Given the description of an element on the screen output the (x, y) to click on. 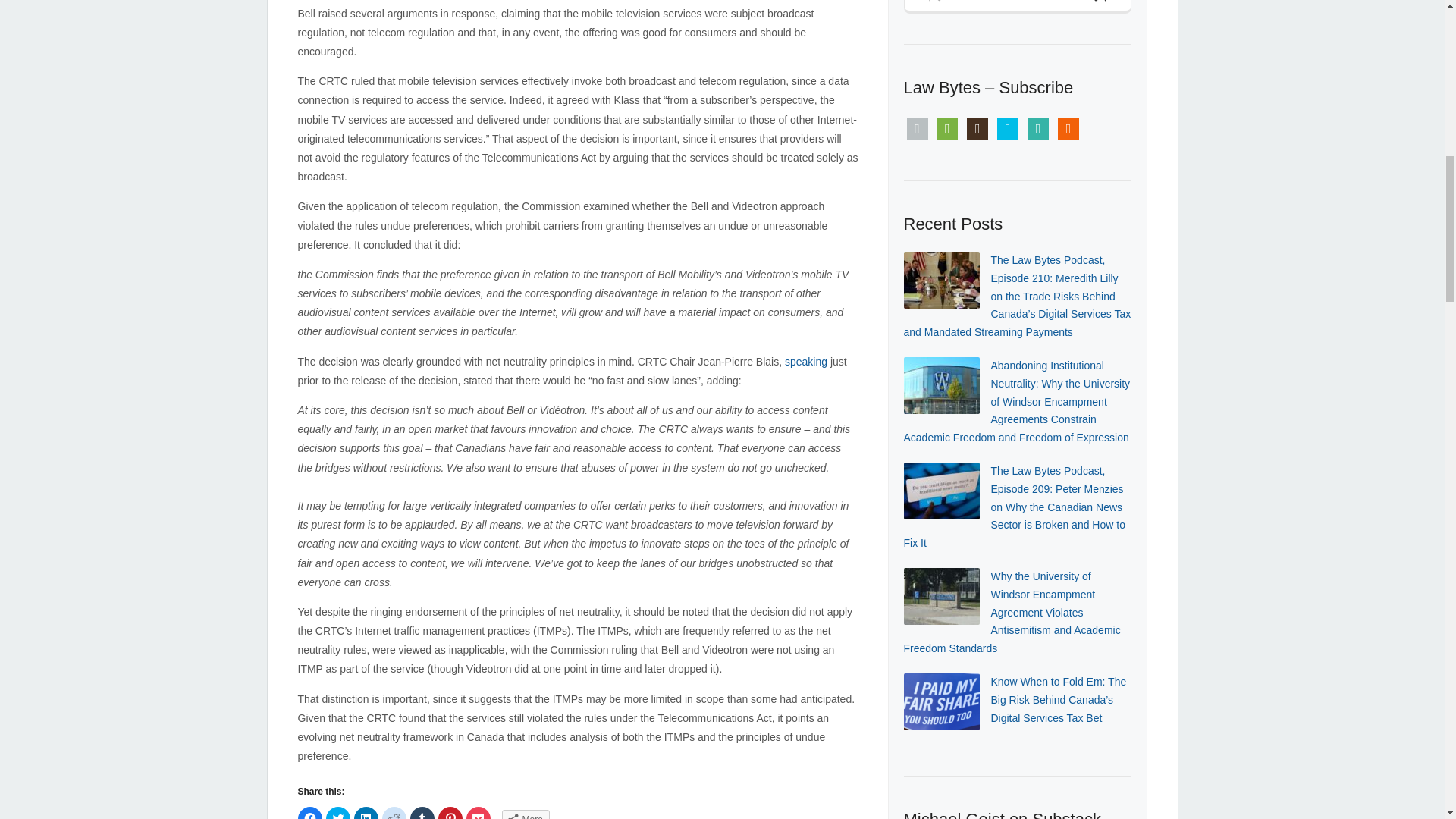
Click to share on Reddit (393, 812)
Click to share on Facebook (309, 812)
Click to share on Twitter (338, 812)
Click to share on LinkedIn (365, 812)
